Given the description of an element on the screen output the (x, y) to click on. 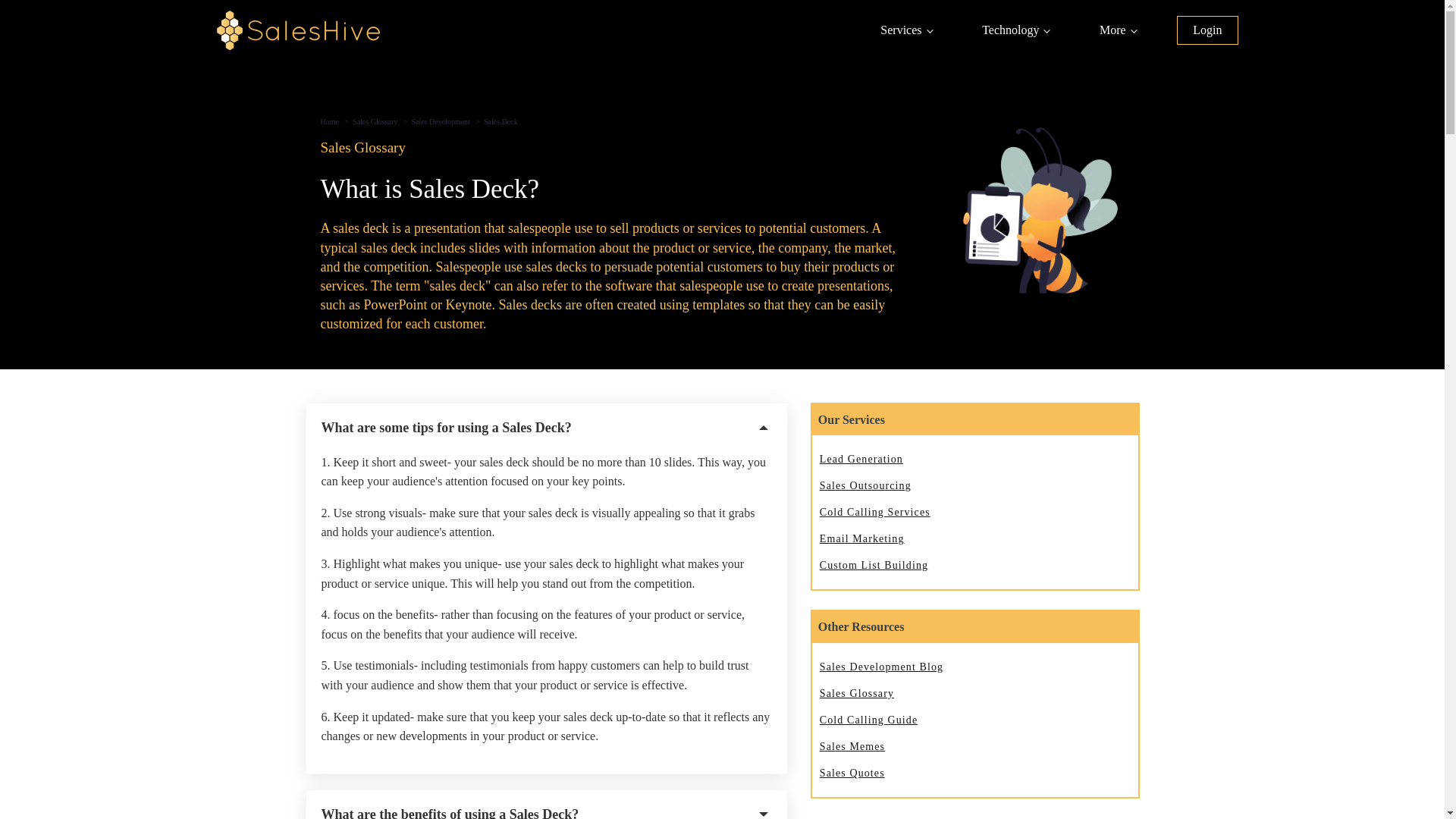
Sales Glossary (610, 148)
Services (906, 30)
More (1117, 30)
Sales Glossary (374, 121)
Technology (1015, 30)
Home (328, 121)
Sales Development (439, 121)
Login (1206, 30)
